Given the description of an element on the screen output the (x, y) to click on. 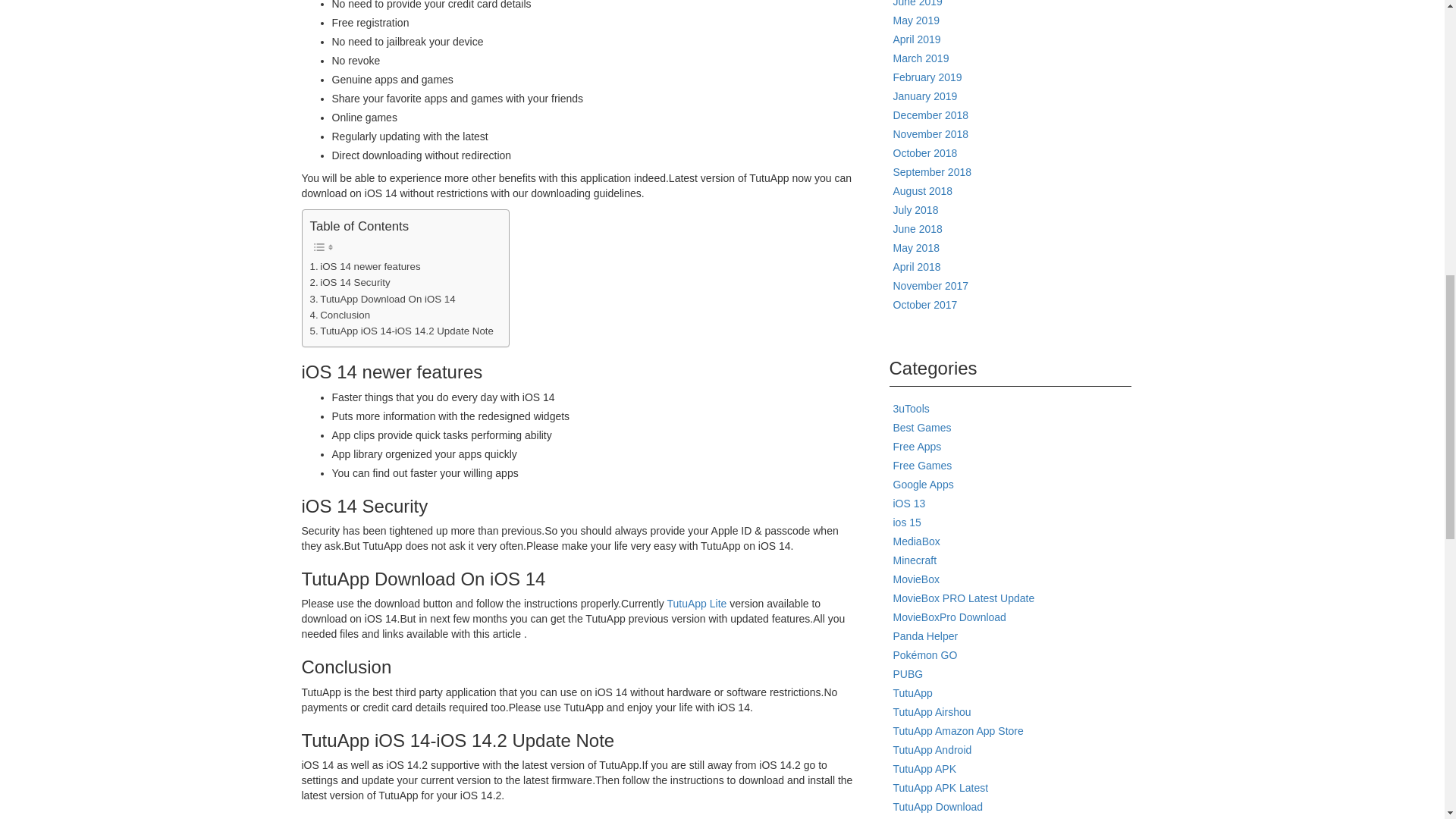
TutuApp Download On iOS 14 (381, 299)
iOS 14 Security (349, 282)
Conclusion (338, 314)
TutuApp iOS 14-iOS 14.2 Update Note (400, 330)
iOS 14 Security (349, 282)
iOS 14 newer features (364, 266)
iOS 14 newer features (364, 266)
TutuApp Lite (696, 603)
TutuApp Download On iOS 14 (381, 299)
